Given the description of an element on the screen output the (x, y) to click on. 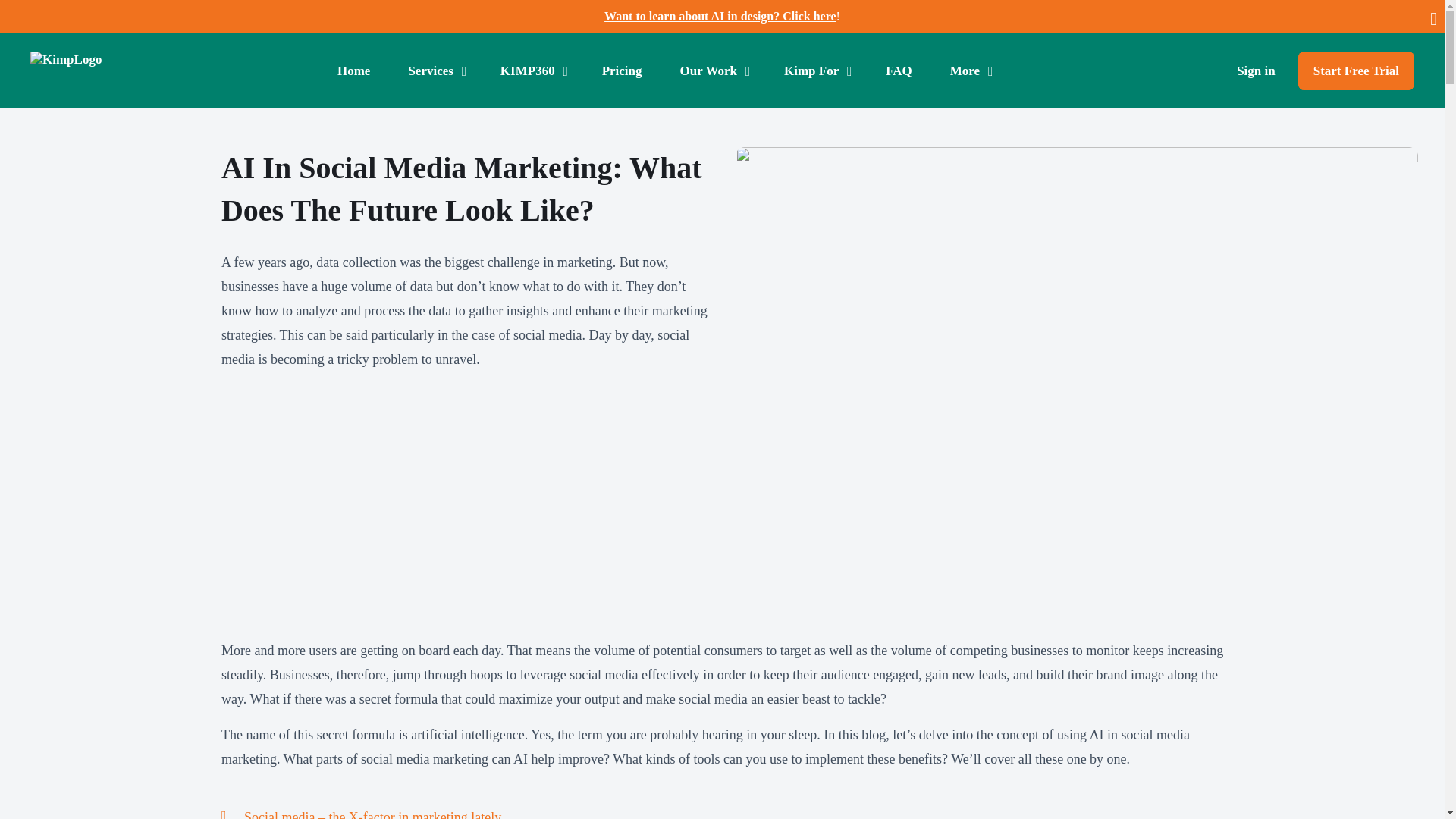
Start Free Trial (1355, 70)
Pricing (622, 70)
Our Work (713, 70)
Home (353, 70)
KIMP360 (531, 70)
More (969, 70)
Kimp For (815, 70)
Sign in (1255, 70)
FAQ (898, 70)
Services (435, 70)
